Given the description of an element on the screen output the (x, y) to click on. 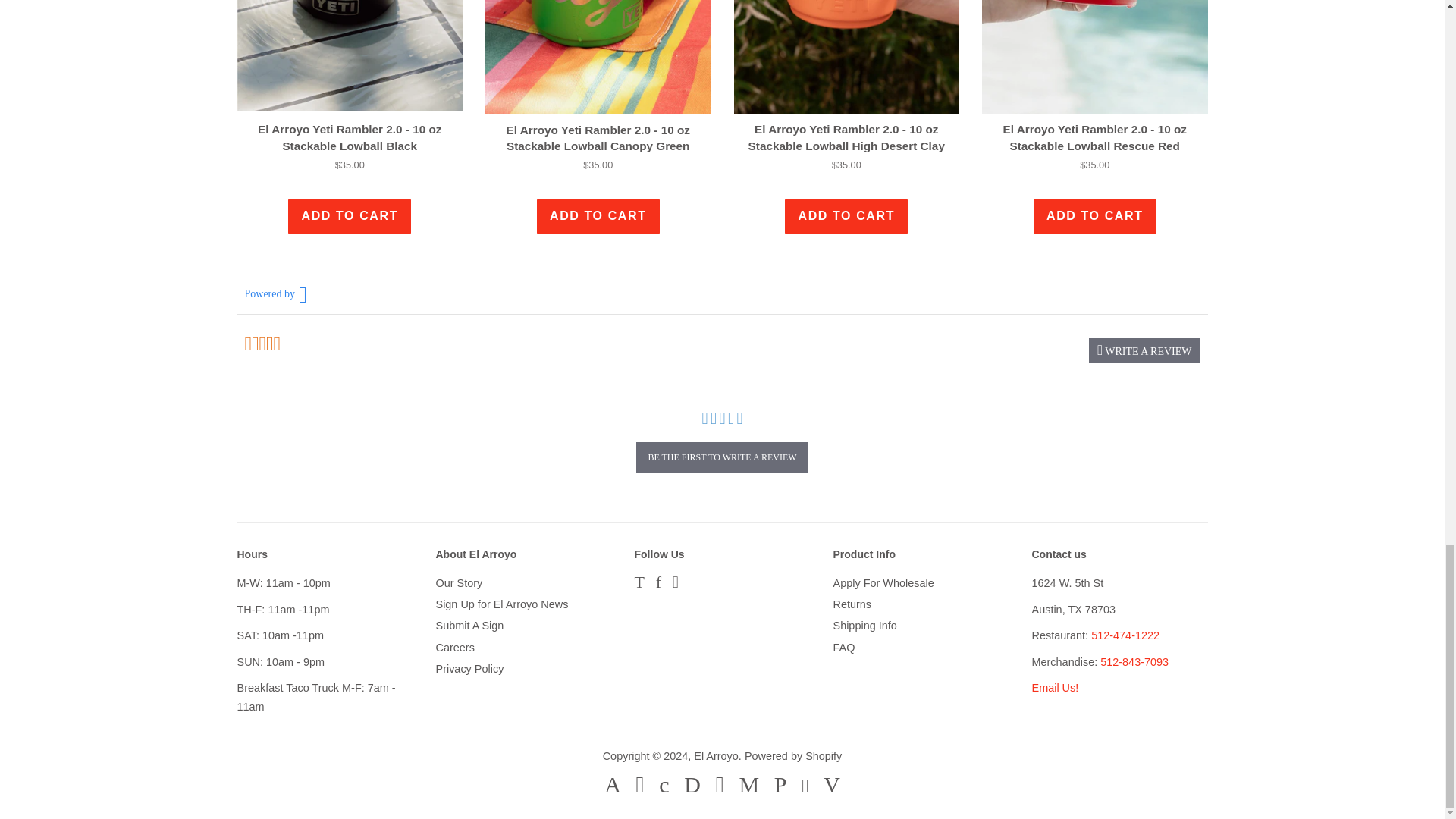
Add to Cart (598, 216)
tel:5128437093 (1134, 662)
Add to Cart (845, 216)
tel:512-474-1222 (1124, 635)
Add to Cart (1094, 216)
Add to Cart (349, 216)
